Given the description of an element on the screen output the (x, y) to click on. 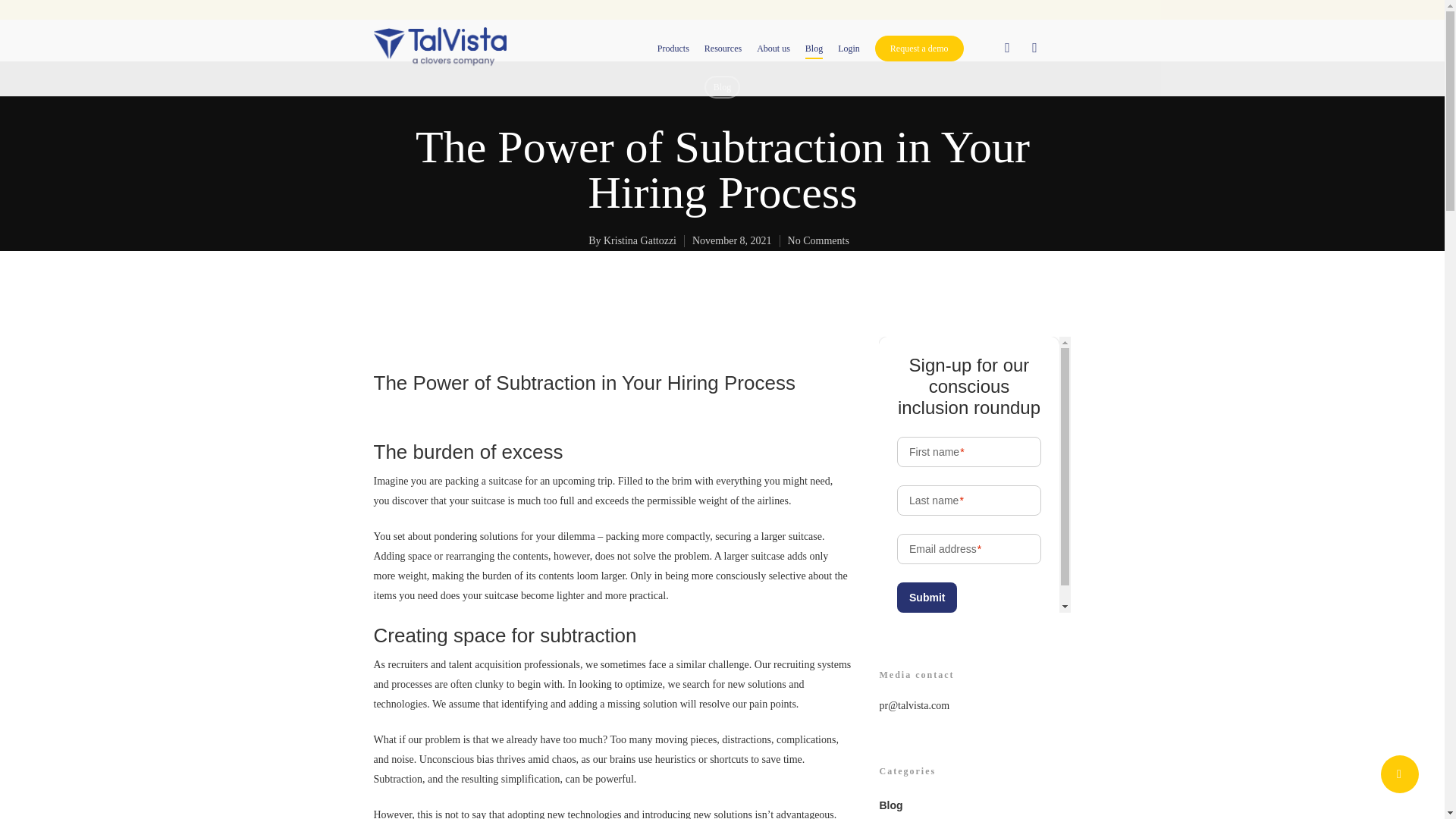
Login (849, 48)
Posts by Kristina Gattozzi (638, 240)
About us (773, 48)
Resources (722, 48)
Request a demo (919, 48)
Blog (721, 87)
Blog (813, 48)
No Comments (817, 240)
Products (673, 48)
Kristina Gattozzi (638, 240)
